Given the description of an element on the screen output the (x, y) to click on. 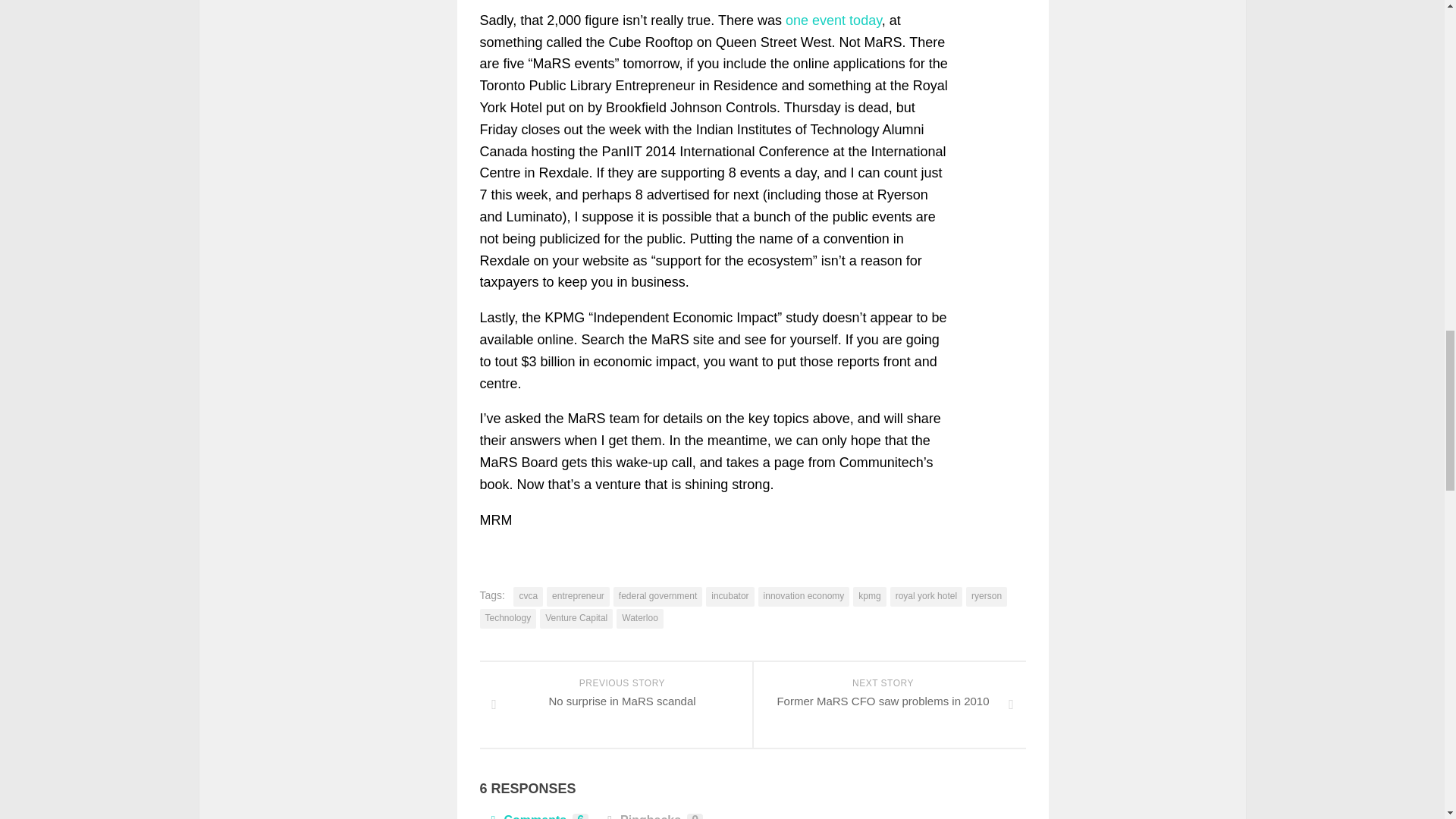
royal york hotel (925, 596)
Pingbacks0 (652, 815)
ryerson (986, 596)
kpmg (615, 704)
Waterloo (869, 596)
federal government (639, 618)
innovation economy (656, 596)
incubator (804, 596)
Comments6 (730, 596)
